Given the description of an element on the screen output the (x, y) to click on. 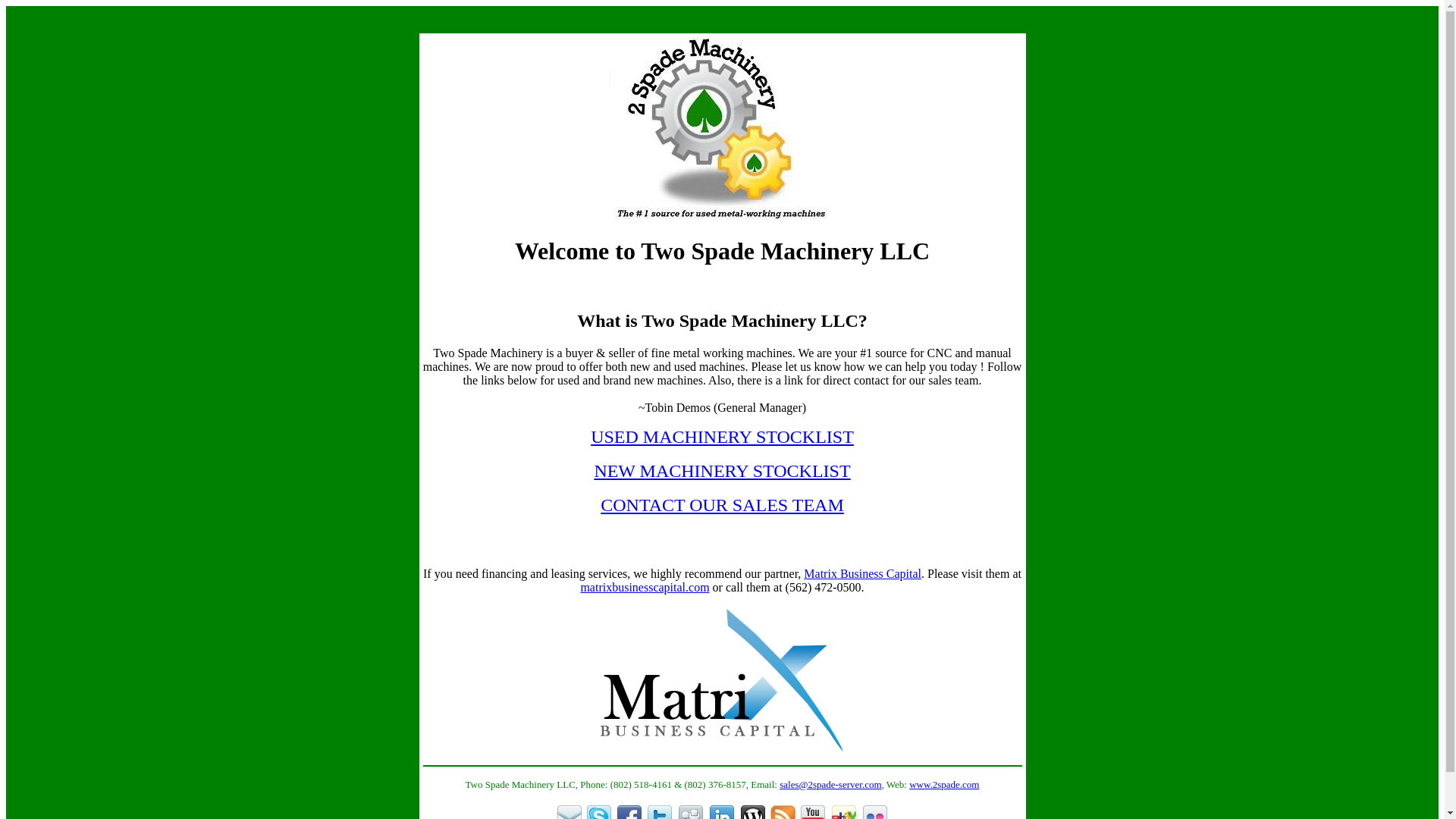
www.2spade.com Element type: text (944, 784)
sales@2spade-server.com Element type: text (830, 784)
CONTACT OUR SALES TEAM Element type: text (722, 504)
NEW MACHINERY STOCKLIST Element type: text (721, 470)
matrixbusinesscapital.com Element type: text (644, 586)
Matrix Business Capital Element type: text (862, 573)
USED MACHINERY STOCKLIST Element type: text (721, 436)
